Given the description of an element on the screen output the (x, y) to click on. 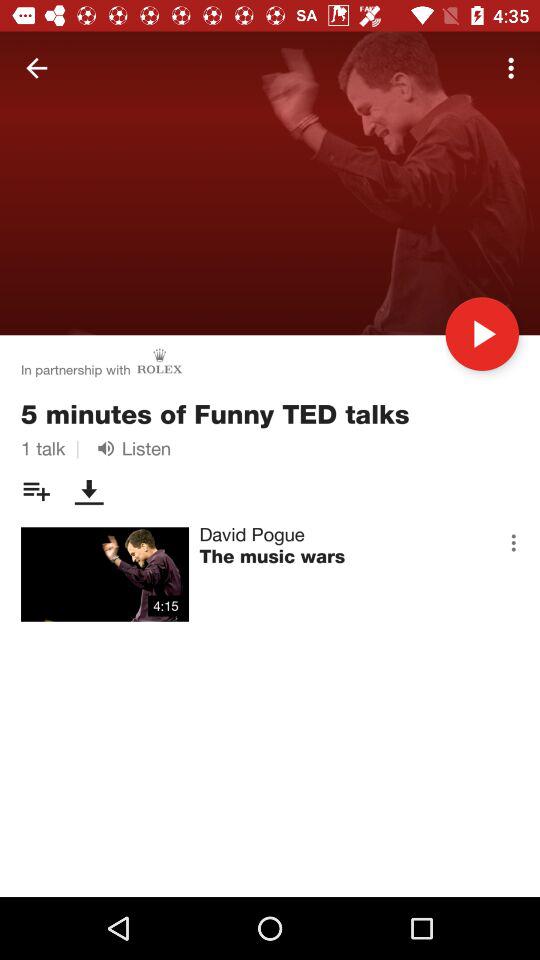
click listen (130, 448)
